Given the description of an element on the screen output the (x, y) to click on. 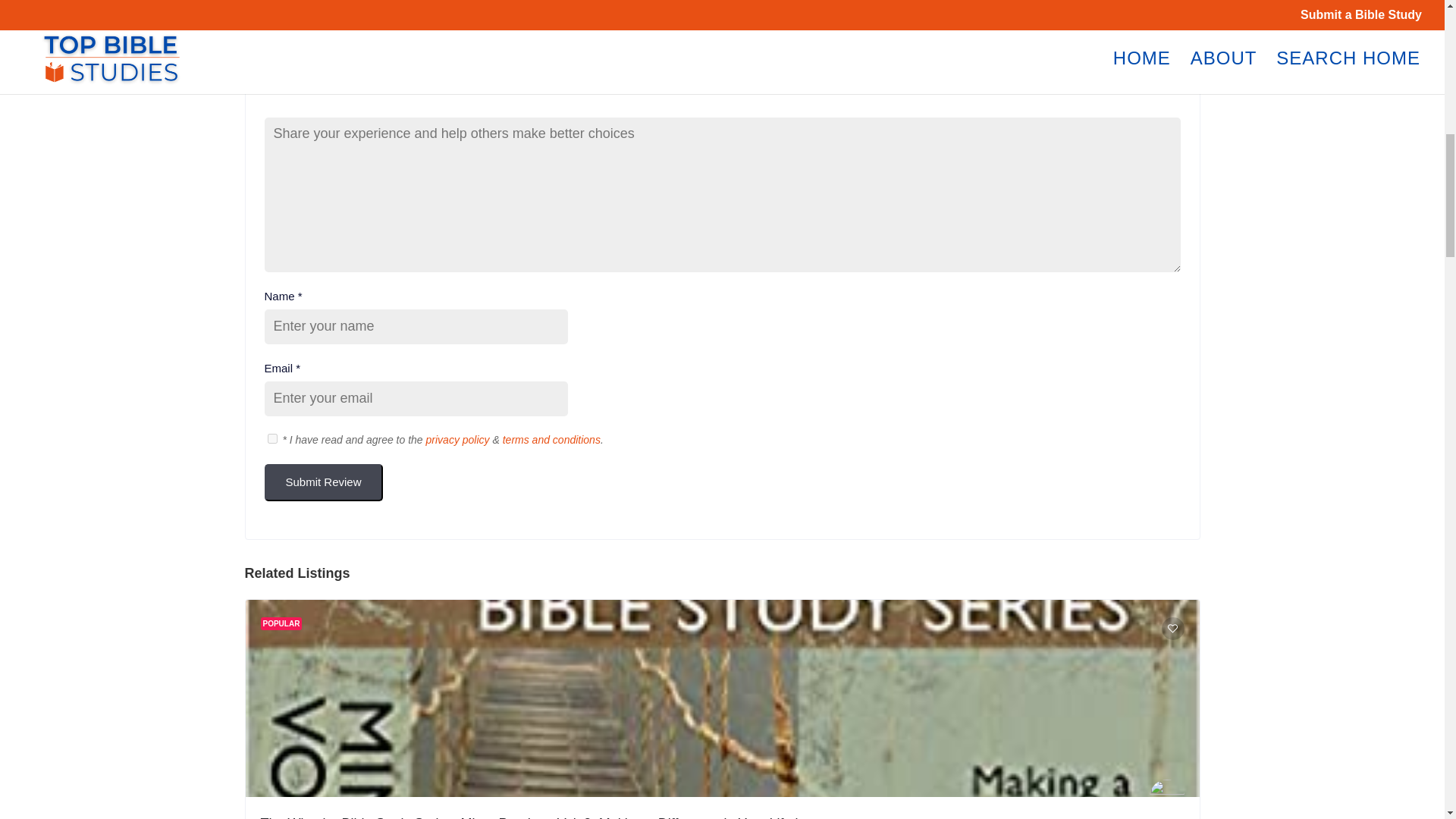
Submit Review (322, 482)
yes (271, 438)
privacy policy (457, 439)
terms and conditions (550, 439)
